Given the description of an element on the screen output the (x, y) to click on. 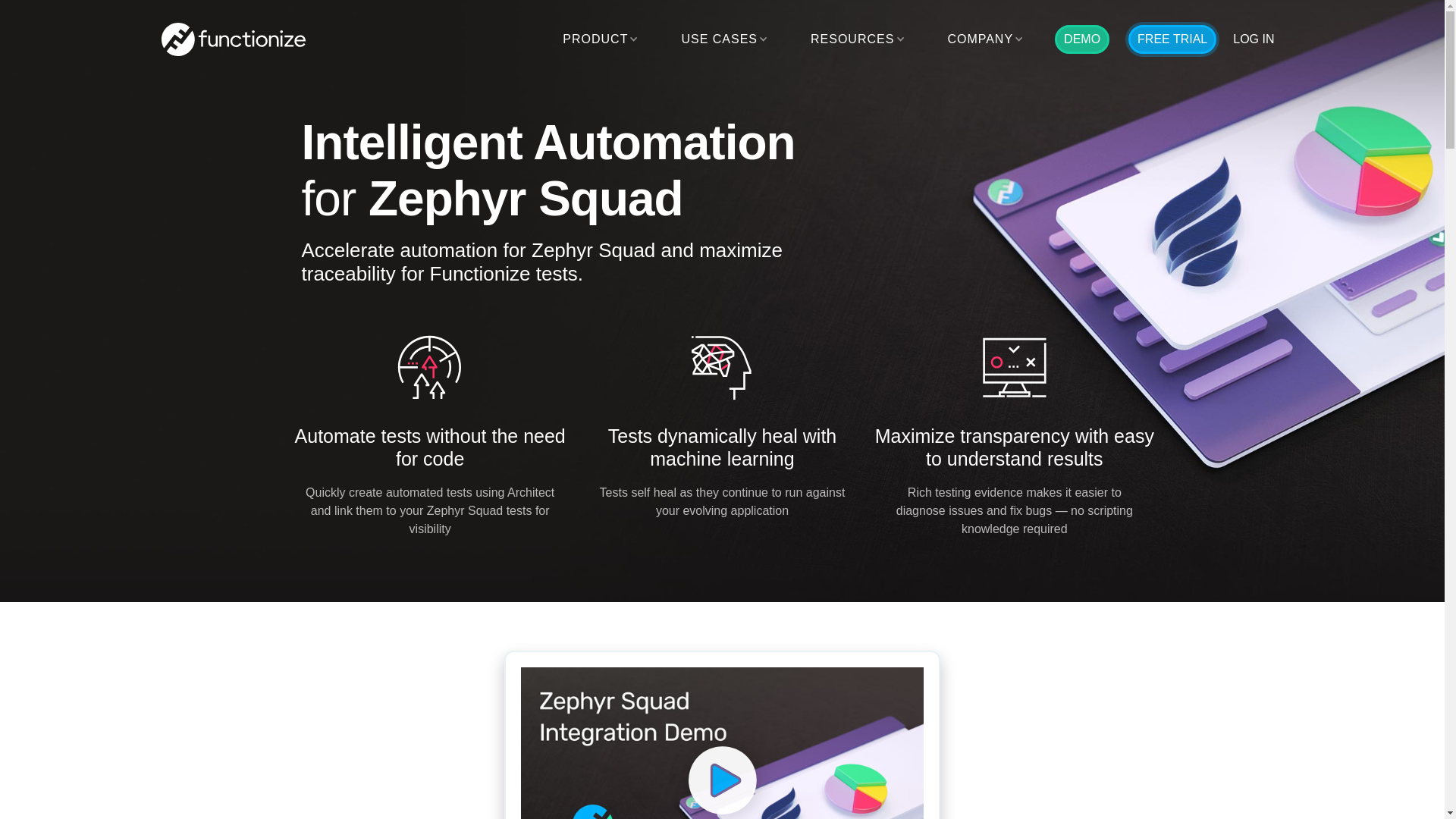
PRODUCT (594, 38)
RESOURCES (851, 38)
USE CASES (719, 38)
